Given the description of an element on the screen output the (x, y) to click on. 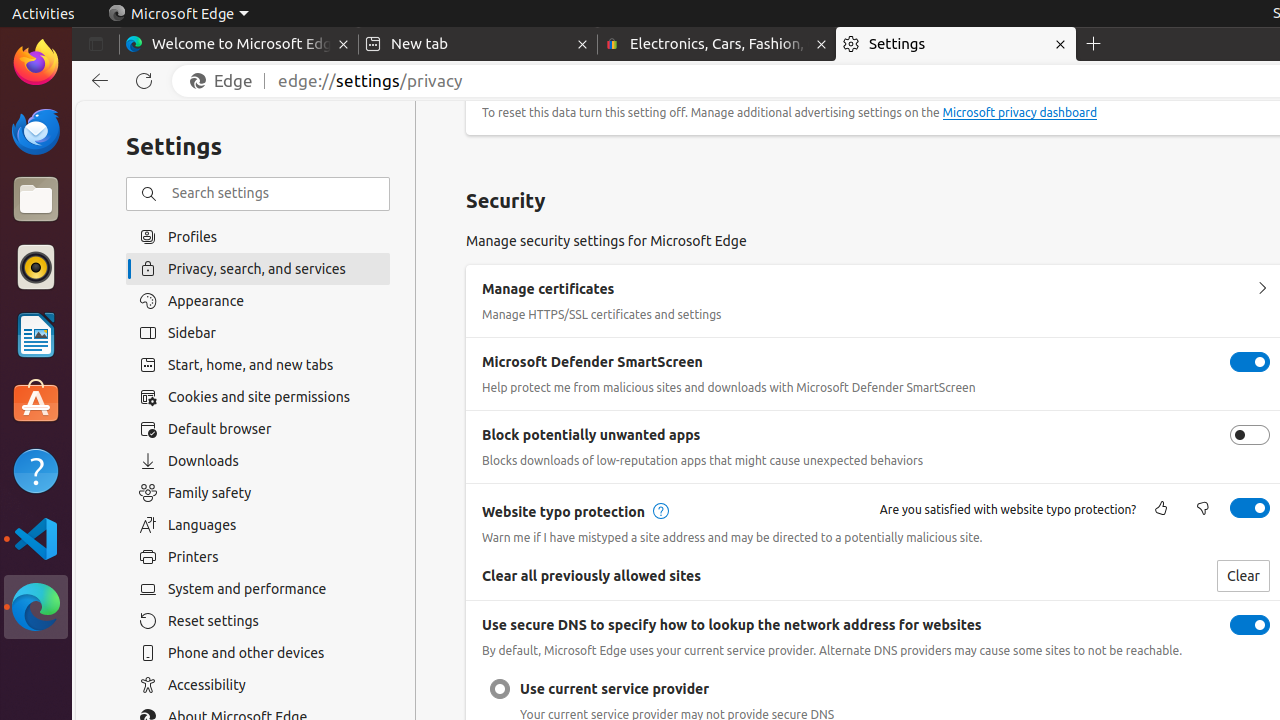
Reset settings Element type: tree-item (258, 621)
Website typo protection, learn more Element type: push-button (658, 512)
Cookies and site permissions Element type: tree-item (258, 397)
LibreOffice Writer Element type: push-button (36, 334)
Microsoft Edge Element type: push-button (36, 607)
